Given the description of an element on the screen output the (x, y) to click on. 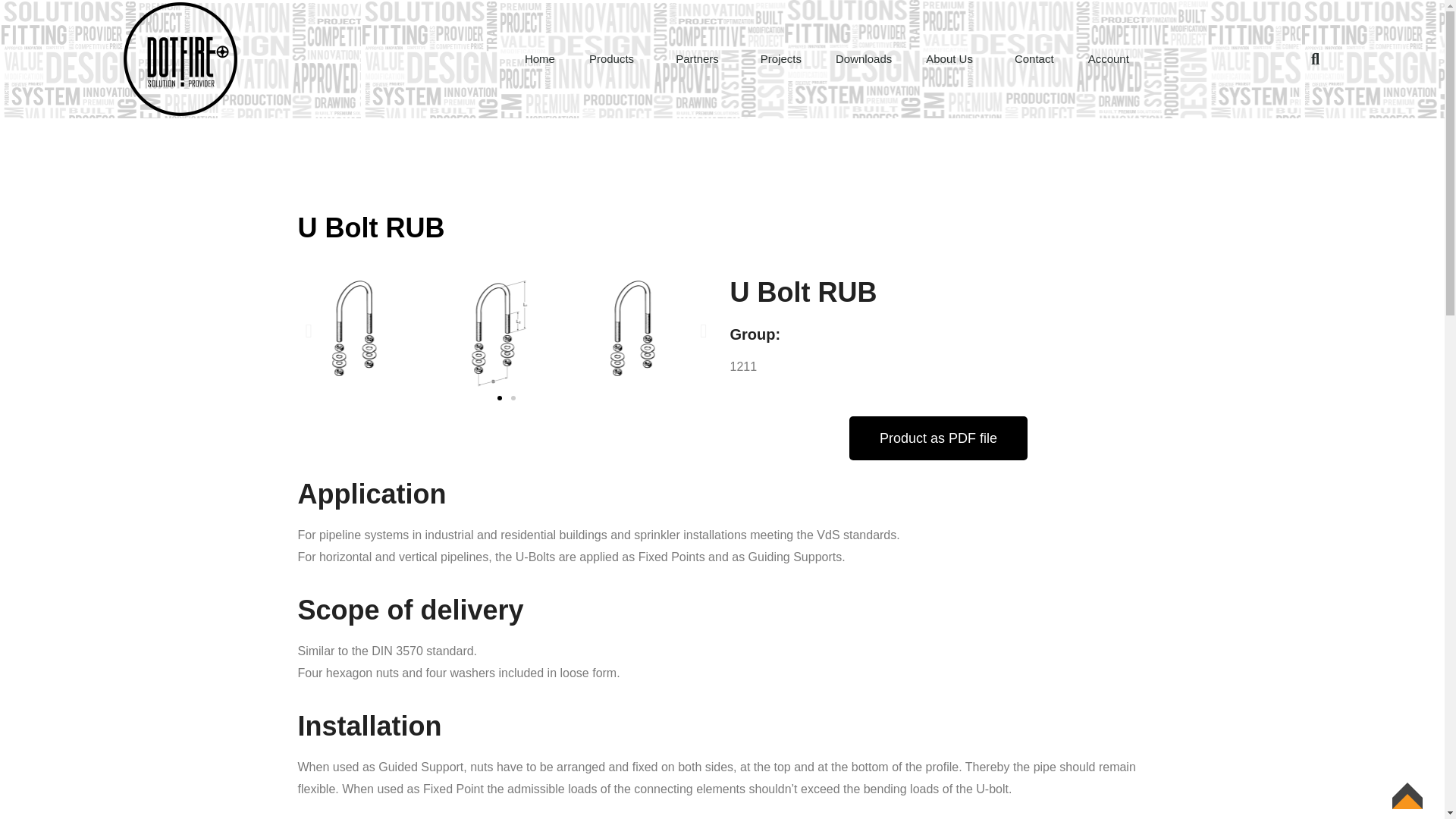
Partners (700, 59)
Products (615, 59)
TOP (1406, 803)
